Given the description of an element on the screen output the (x, y) to click on. 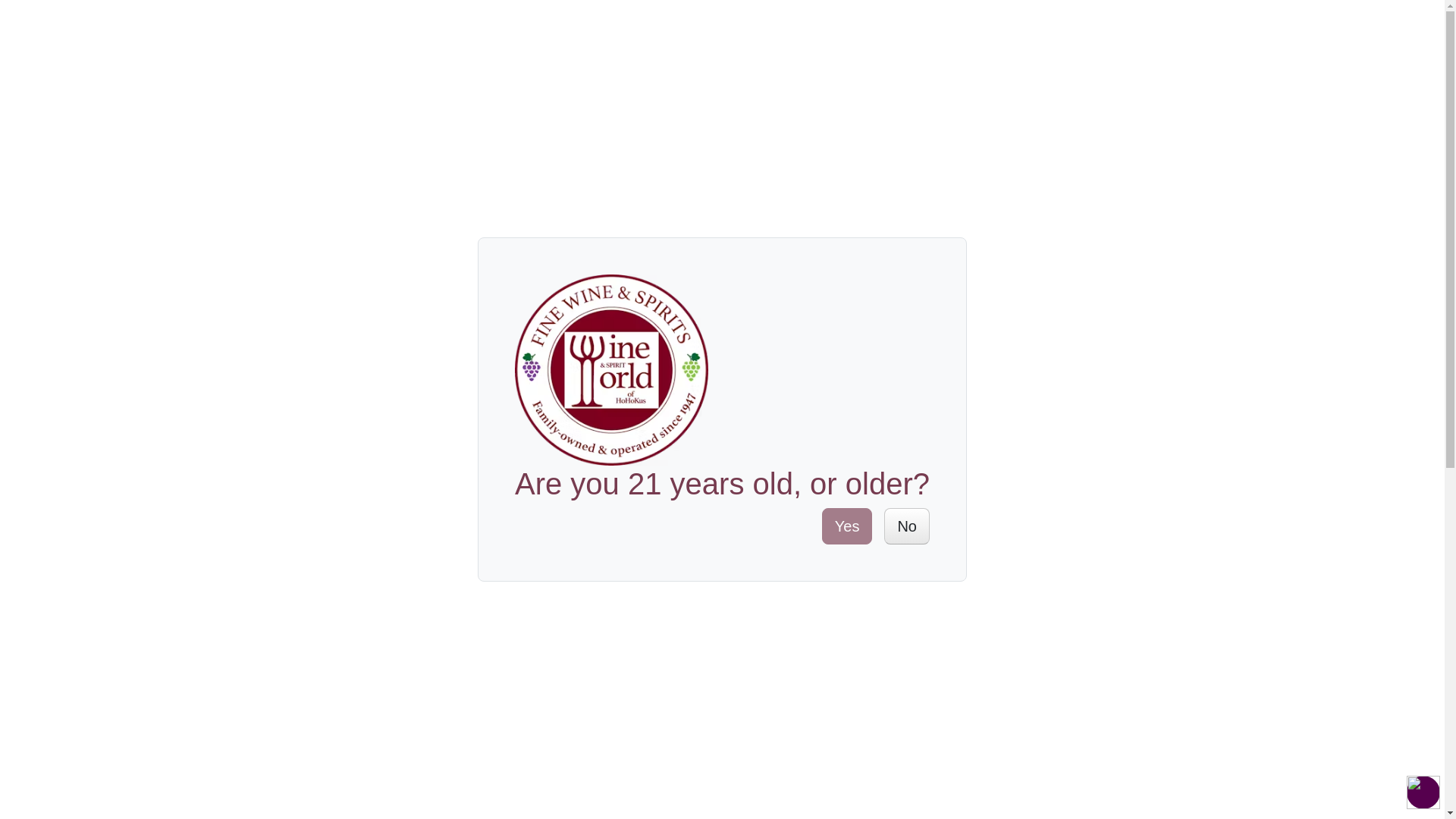
Bhakta 1990 Jamaican Rum 1990 750ml (598, 794)
Burgundy (393, 584)
Gevrey-Chambertin (479, 584)
Facebook (1096, 456)
SPIRITS (343, 120)
Accessibility Menu (1422, 792)
COLLECTOR'S CORNER (690, 120)
Add to Cart (896, 360)
France (342, 584)
Pott 'Kalihlmanok' Cabernet Sauvigonon 2017 750ml (844, 798)
